Given the description of an element on the screen output the (x, y) to click on. 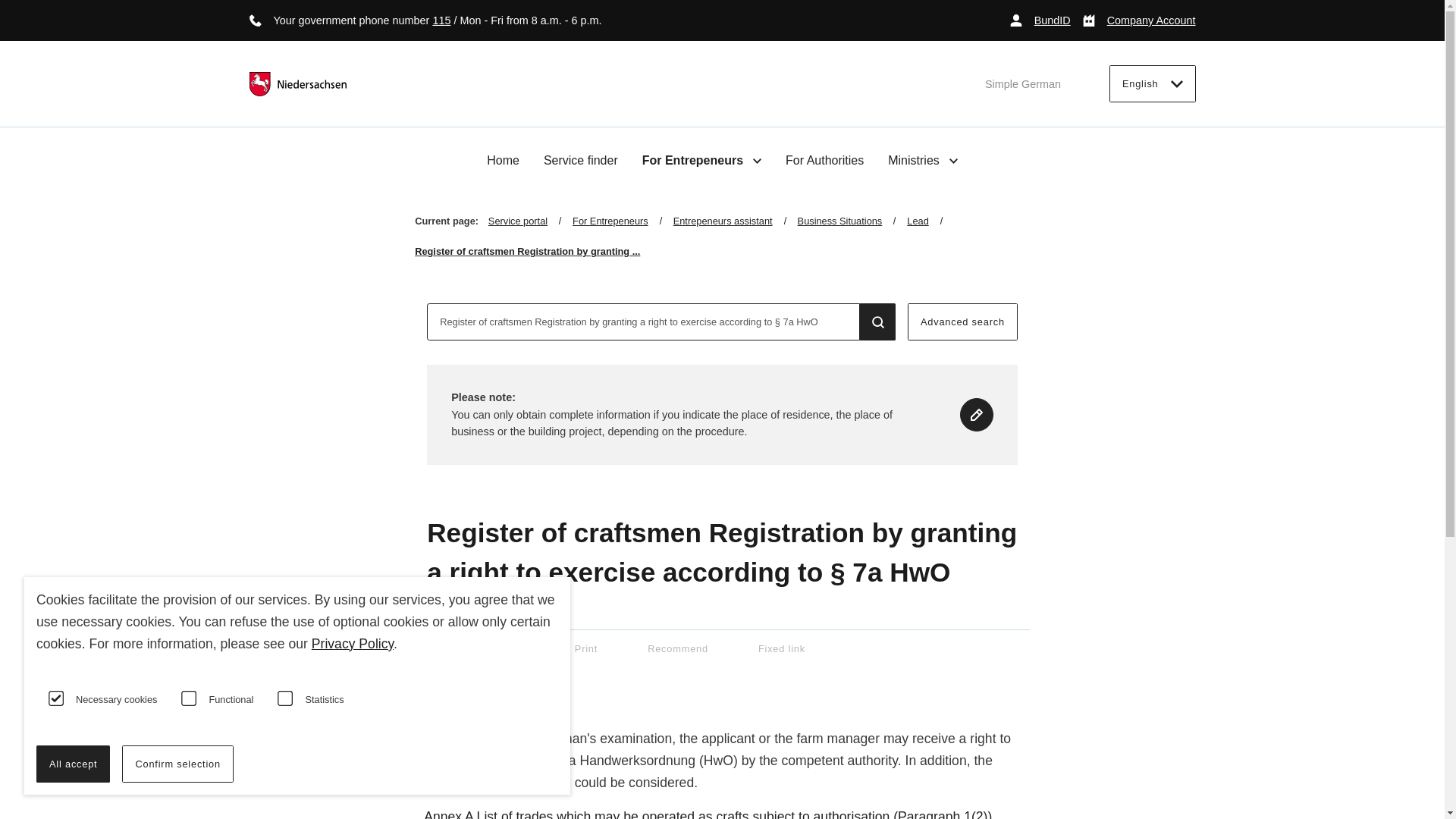
BundID (1040, 20)
BundID (1040, 20)
All accept (73, 763)
Ministries (923, 160)
115 (440, 20)
Go to service portal home page (297, 84)
Company Account (1139, 20)
Service portal (529, 221)
Simple German (1023, 83)
Home (502, 160)
Lead (930, 221)
Business Situations (852, 221)
Service finder (580, 160)
For Entrepeneurs (622, 221)
Company Account (1139, 20)
